Given the description of an element on the screen output the (x, y) to click on. 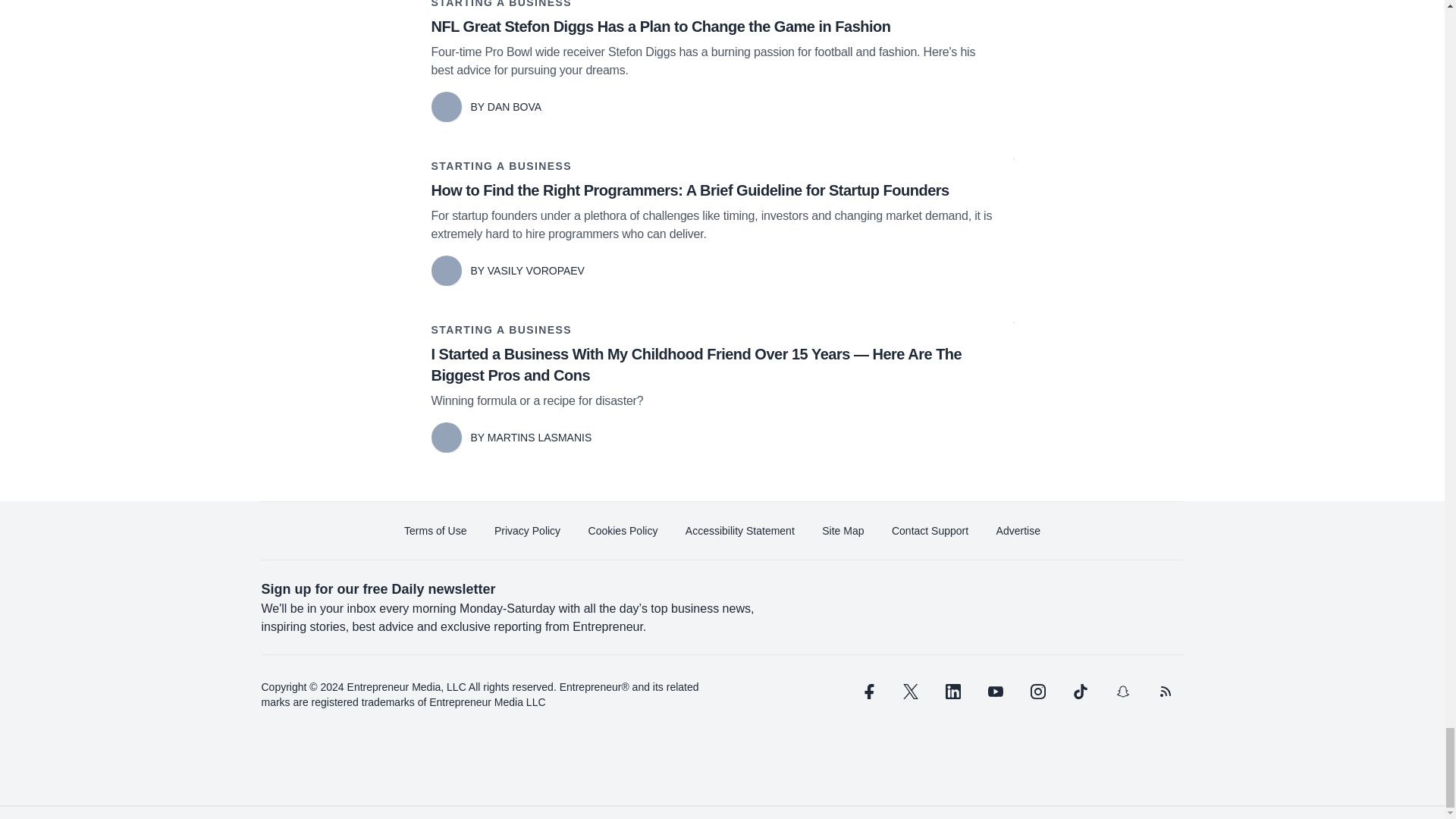
twitter (909, 691)
instagram (1037, 691)
youtube (994, 691)
facebook (866, 691)
snapchat (1121, 691)
tiktok (1079, 691)
linkedin (952, 691)
